Given the description of an element on the screen output the (x, y) to click on. 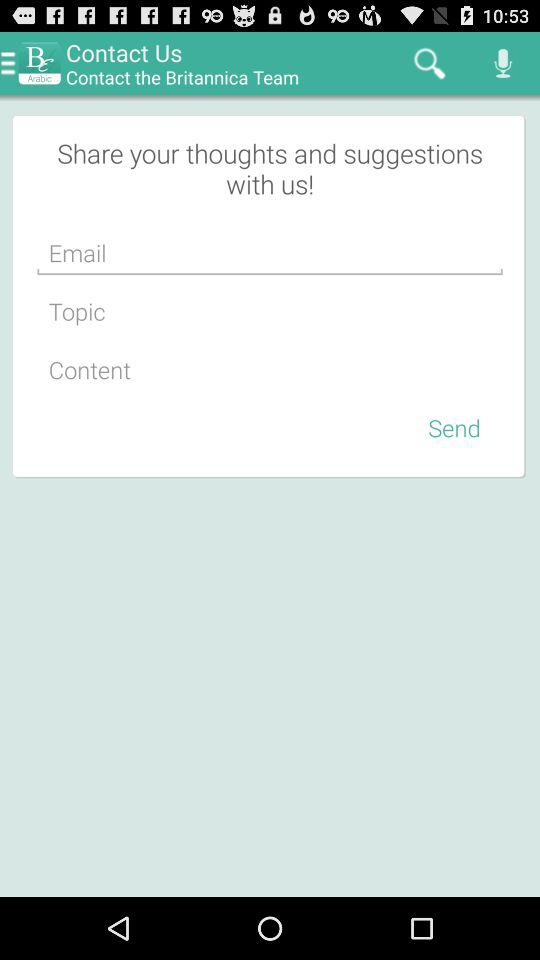
box for entering content (270, 370)
